Given the description of an element on the screen output the (x, y) to click on. 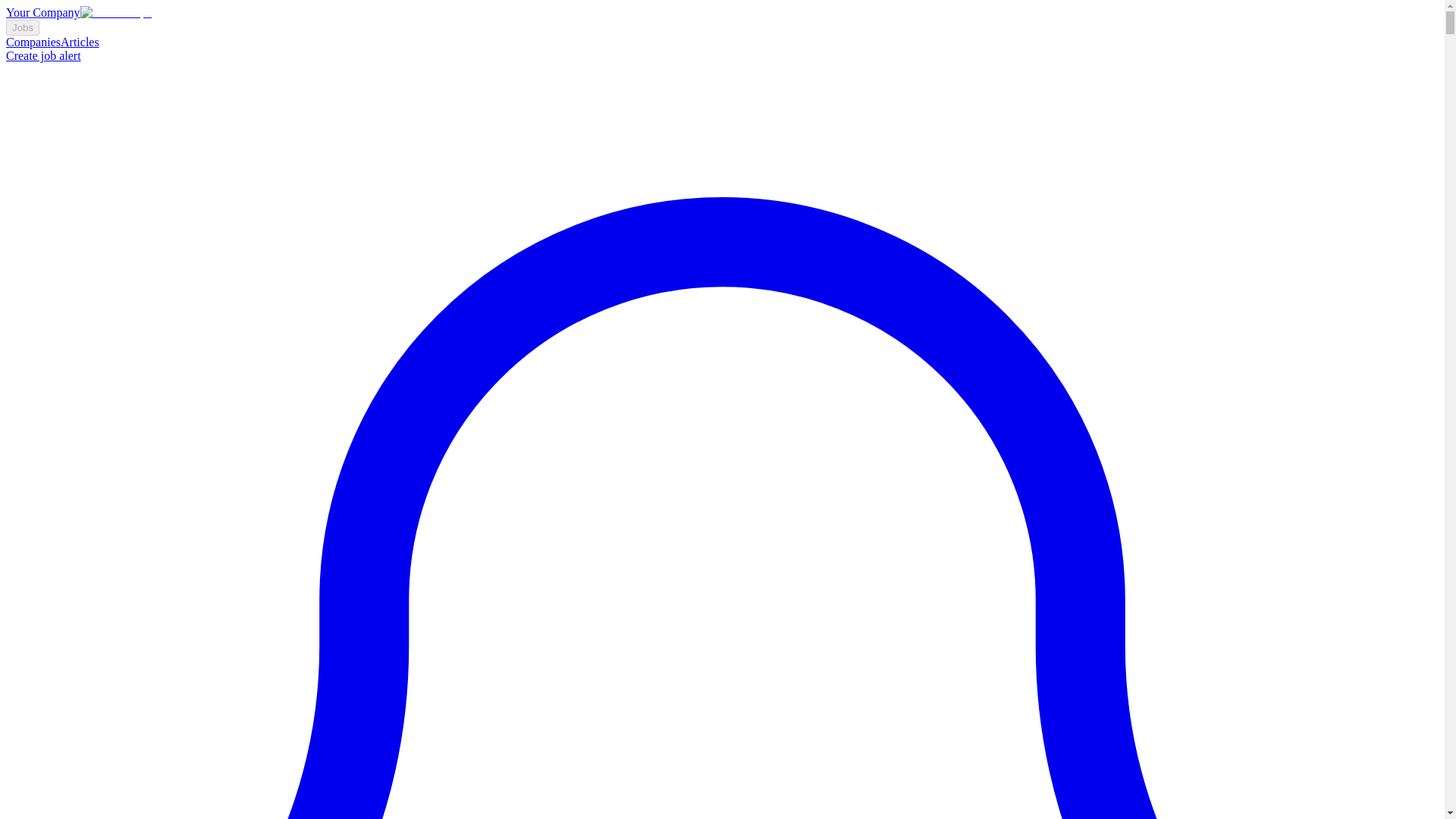
Companies (33, 42)
Your Company (78, 11)
Articles (80, 42)
Jobs (22, 27)
